Given the description of an element on the screen output the (x, y) to click on. 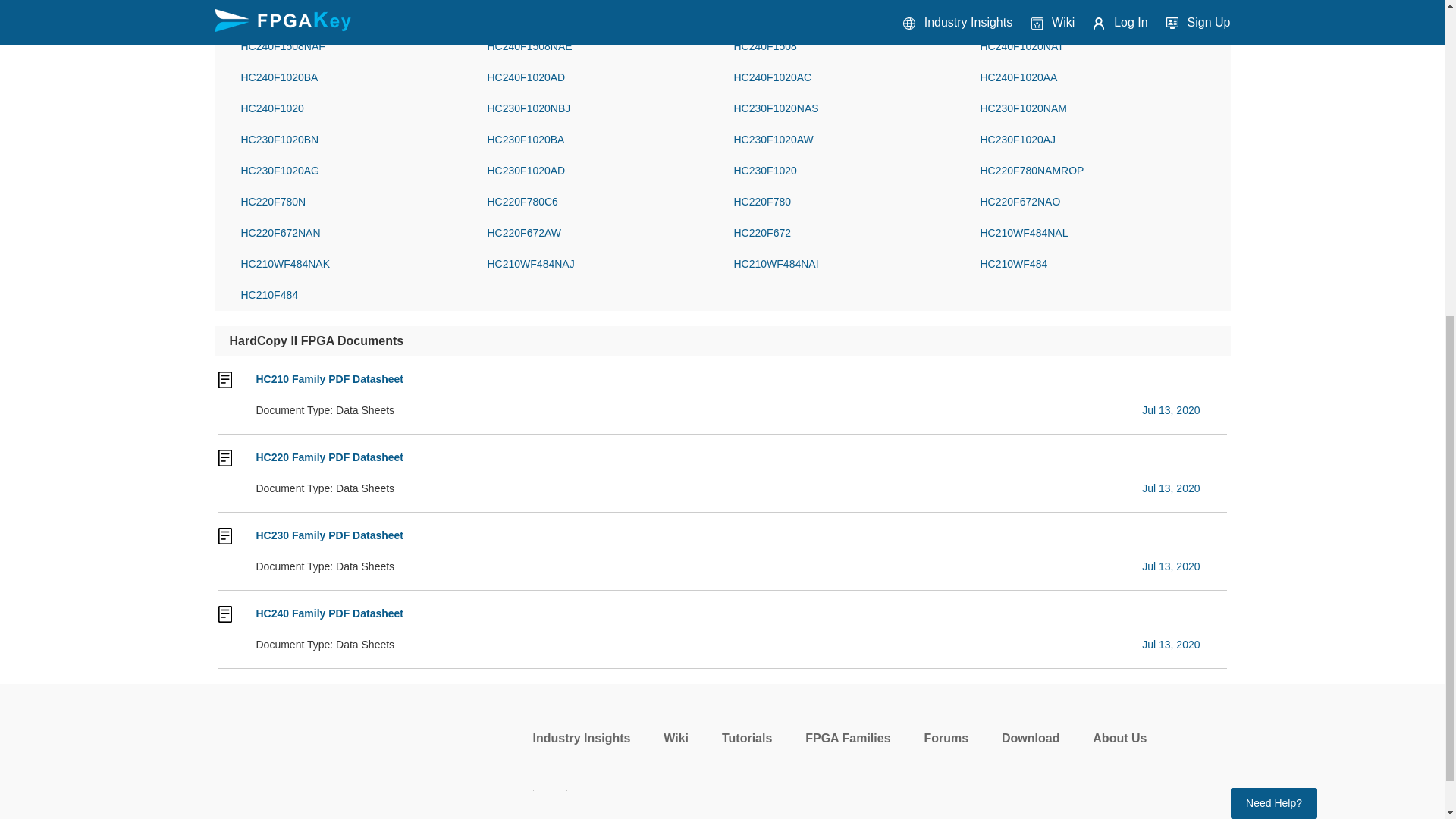
HC240F1508NAX (845, 15)
HC240F1020NAT (1091, 46)
HC240F1508 (845, 46)
HC240F1508NAE (598, 46)
HC240F1508NAK (1091, 15)
HC210WF484N (352, 15)
HC210F484N (598, 15)
HC240F1020BA (352, 77)
HC210WF484N (352, 15)
HC240F1020AD (598, 77)
